Given the description of an element on the screen output the (x, y) to click on. 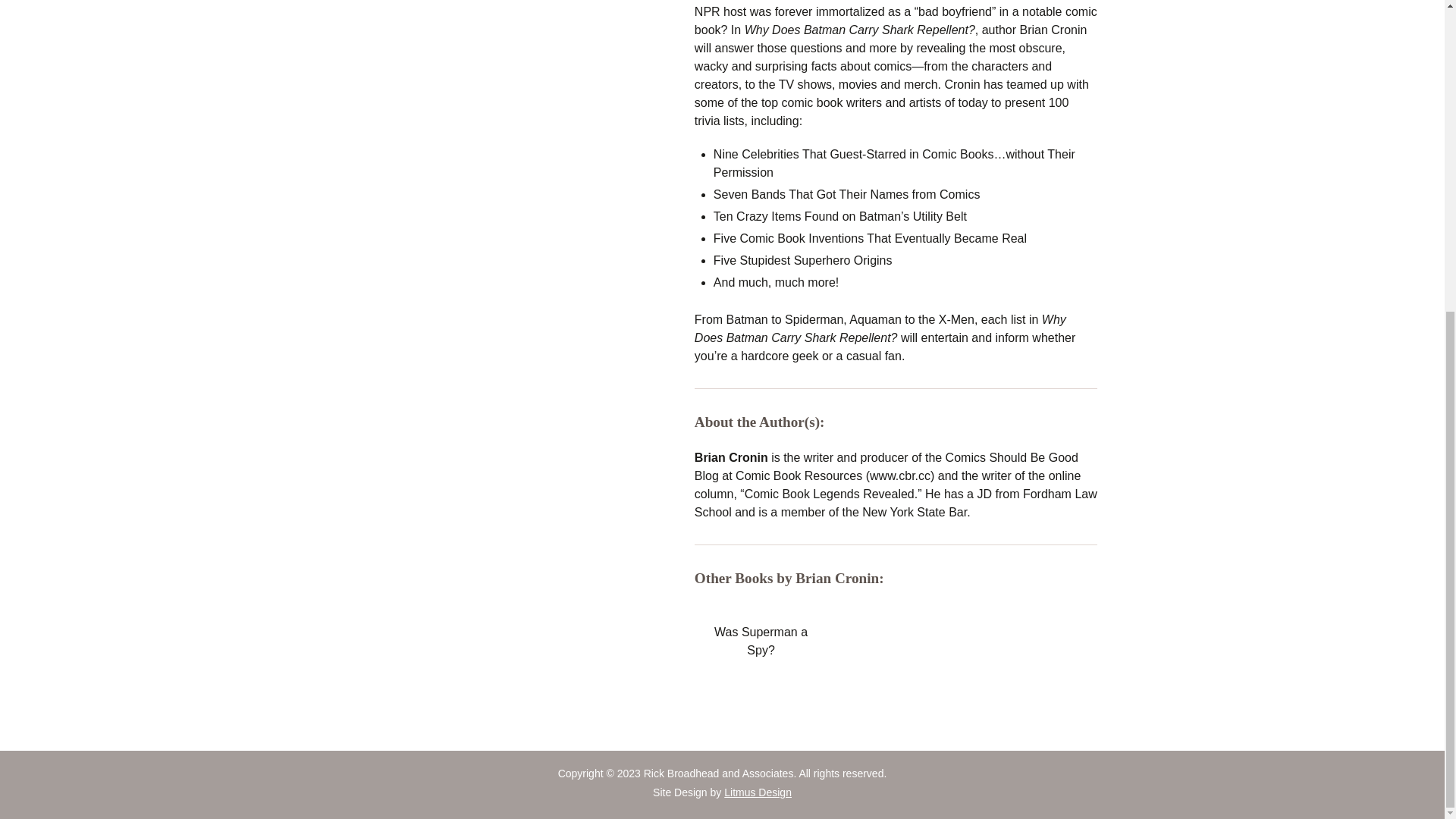
Litmus Design (757, 792)
